Given the description of an element on the screen output the (x, y) to click on. 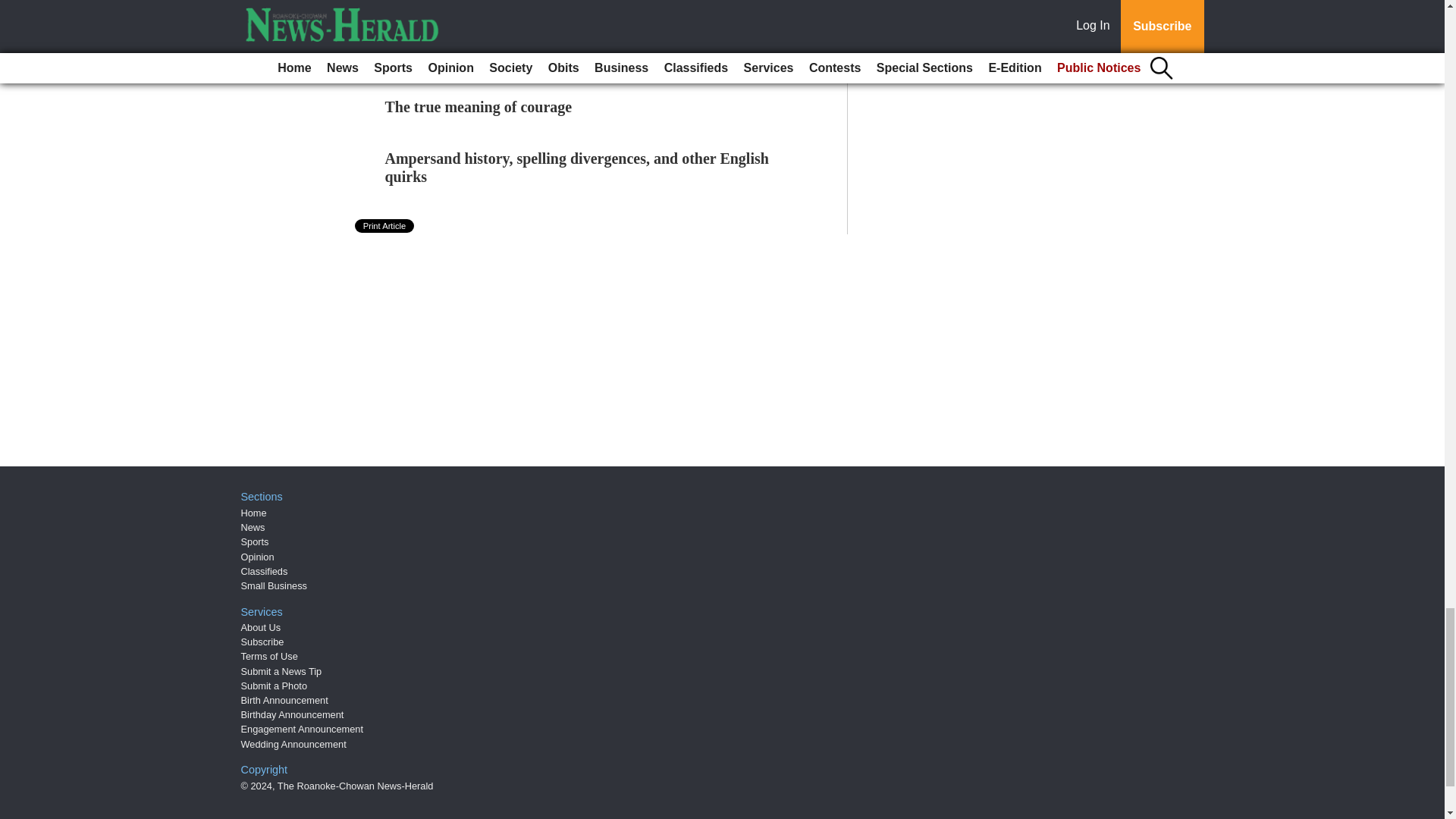
Print Article (384, 225)
The true meaning of courage (478, 106)
College education still has something to offer (530, 54)
The true meaning of courage (478, 106)
College education still has something to offer (530, 54)
